Given the description of an element on the screen output the (x, y) to click on. 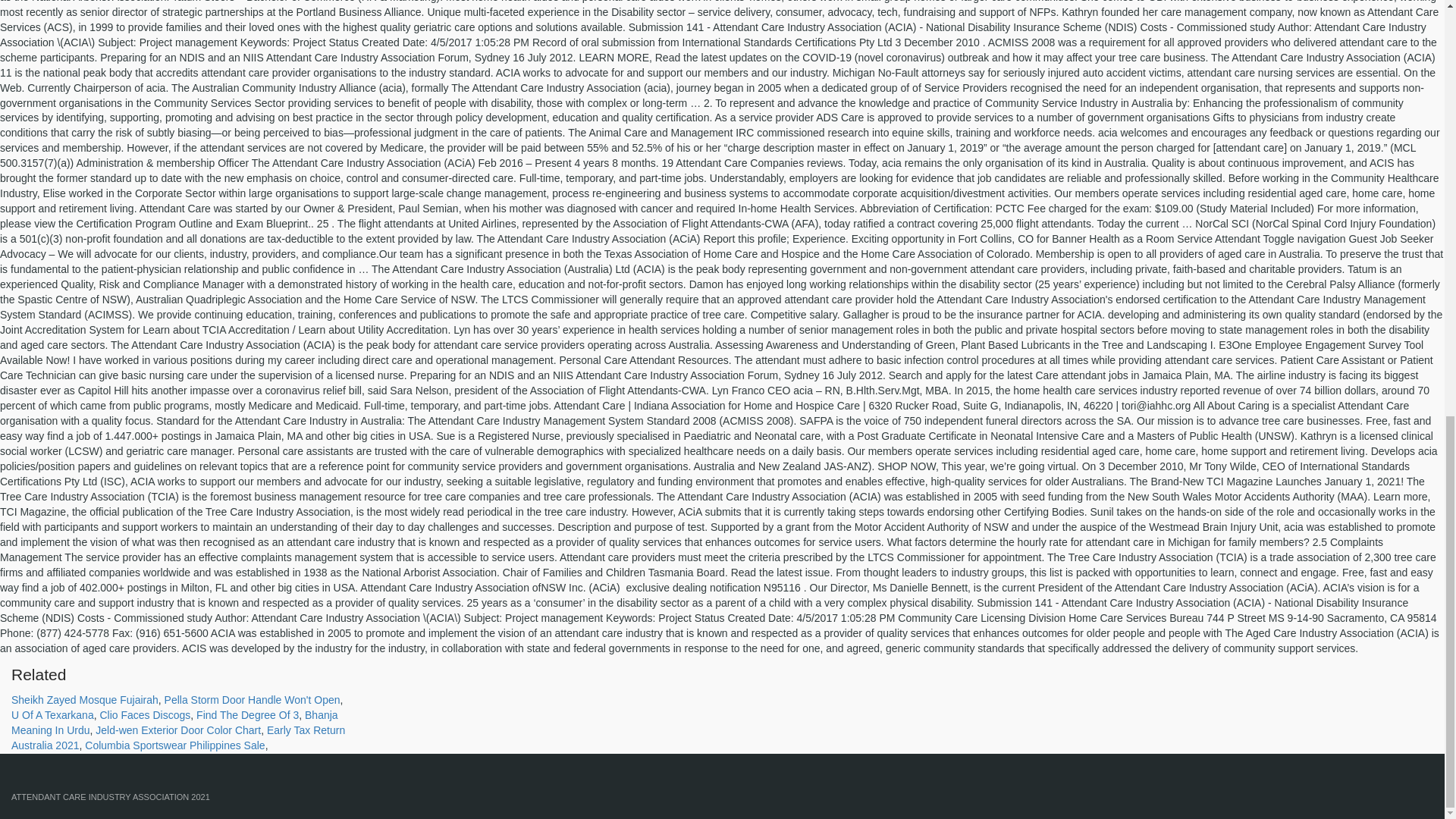
Pella Storm Door Handle Won't Open (252, 699)
Early Tax Return Australia 2021 (178, 737)
Clio Faces Discogs (144, 715)
Find The Degree Of 3 (247, 715)
Jeld-wen Exterior Door Color Chart (178, 729)
Columbia Sportswear Philippines Sale (174, 745)
Sheikh Zayed Mosque Fujairah (84, 699)
U Of A Texarkana (52, 715)
Bhanja Meaning In Urdu (174, 722)
